Given the description of an element on the screen output the (x, y) to click on. 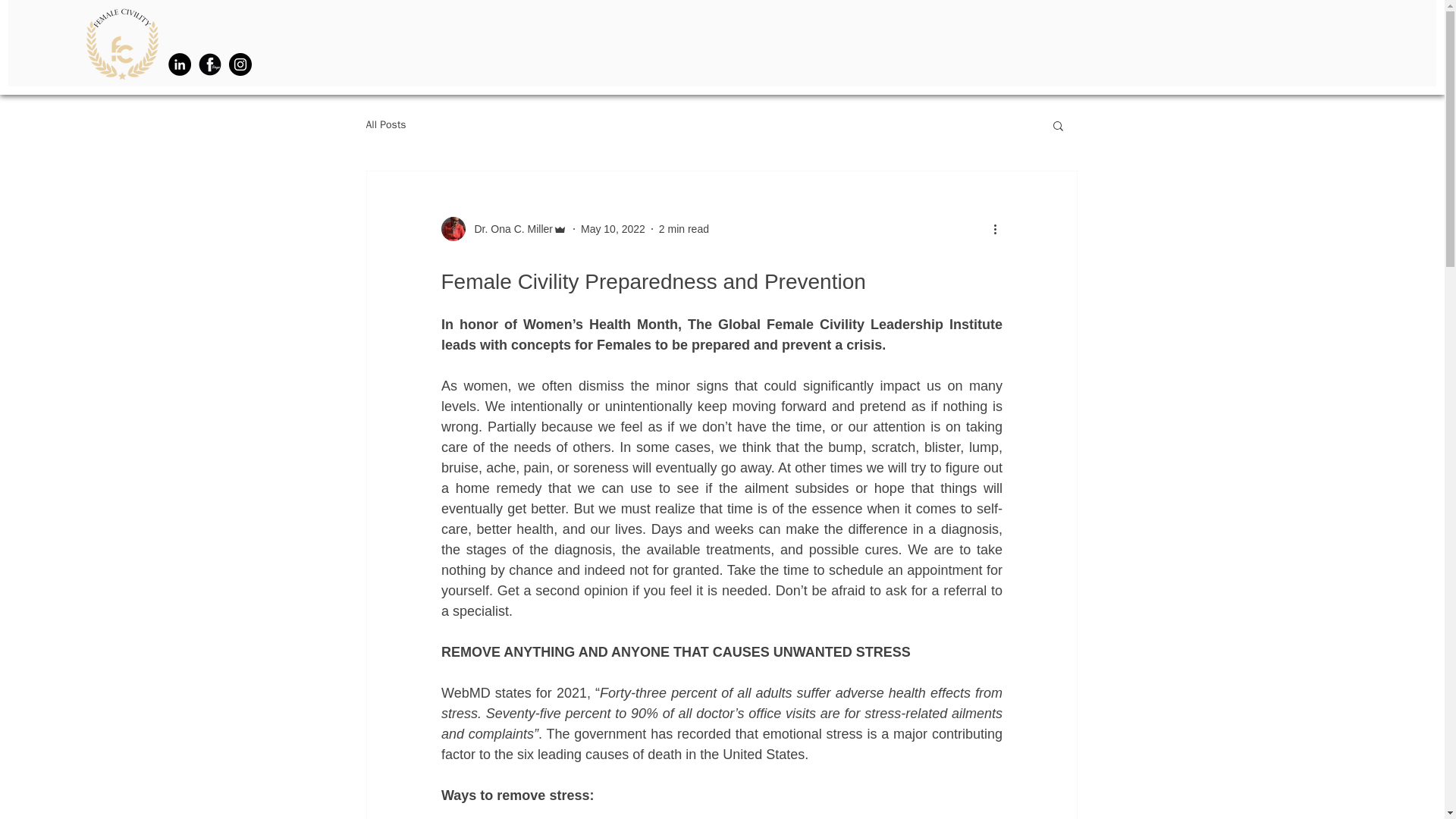
Dr. Ona C. Miller (504, 228)
Dr. Ona C. Miller (509, 229)
May 10, 2022 (612, 228)
2 min read (684, 228)
All Posts (385, 124)
